Given the description of an element on the screen output the (x, y) to click on. 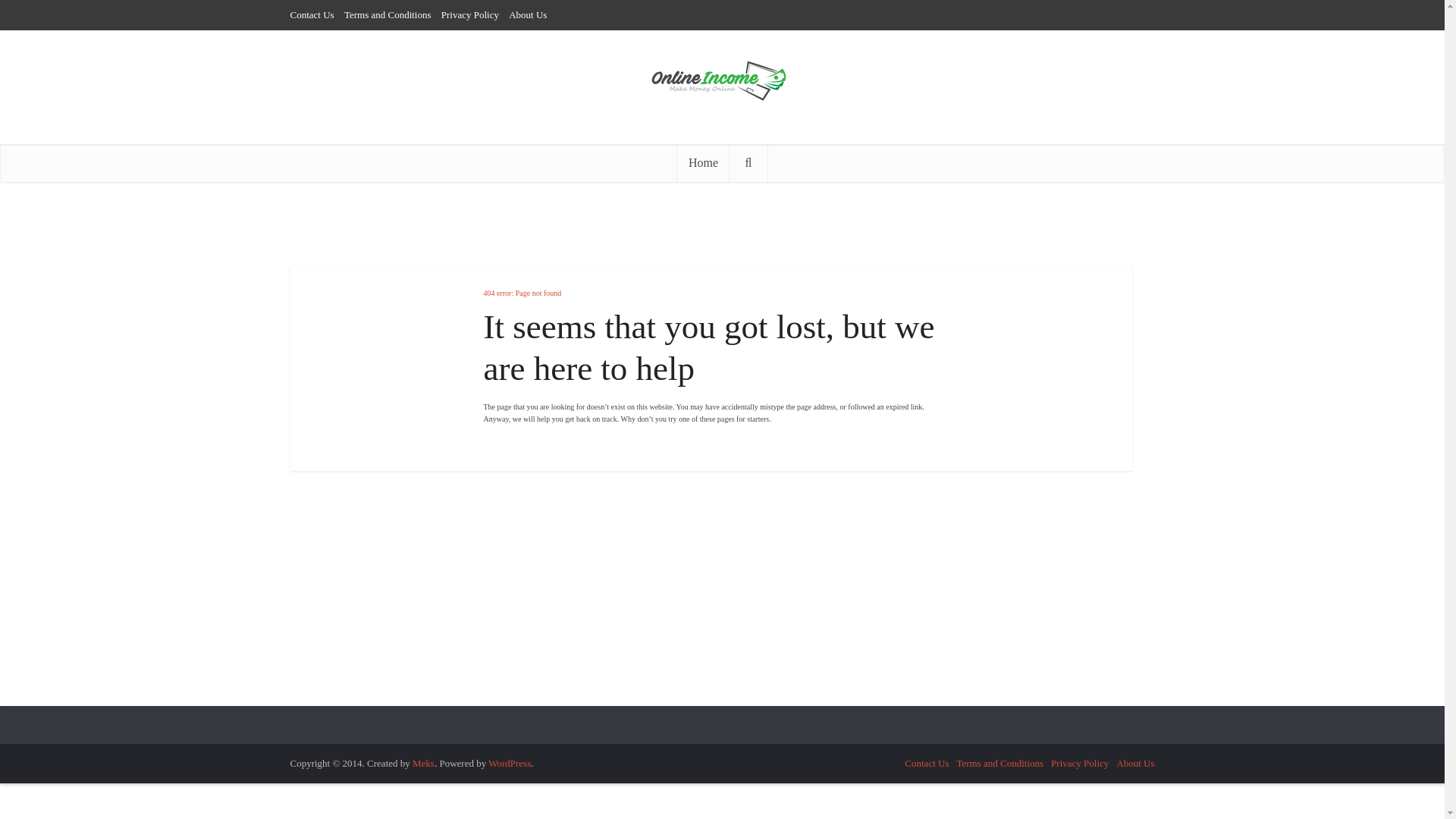
About Us (527, 14)
About Us (1135, 763)
Advertisement (558, 588)
Contact Us (926, 763)
Terms and Conditions (999, 763)
Privacy Policy (1079, 763)
WordPress (509, 763)
Meks (422, 763)
Home (703, 162)
Privacy Policy (470, 14)
Contact Us (311, 14)
Terms and Conditions (386, 14)
